Given the description of an element on the screen output the (x, y) to click on. 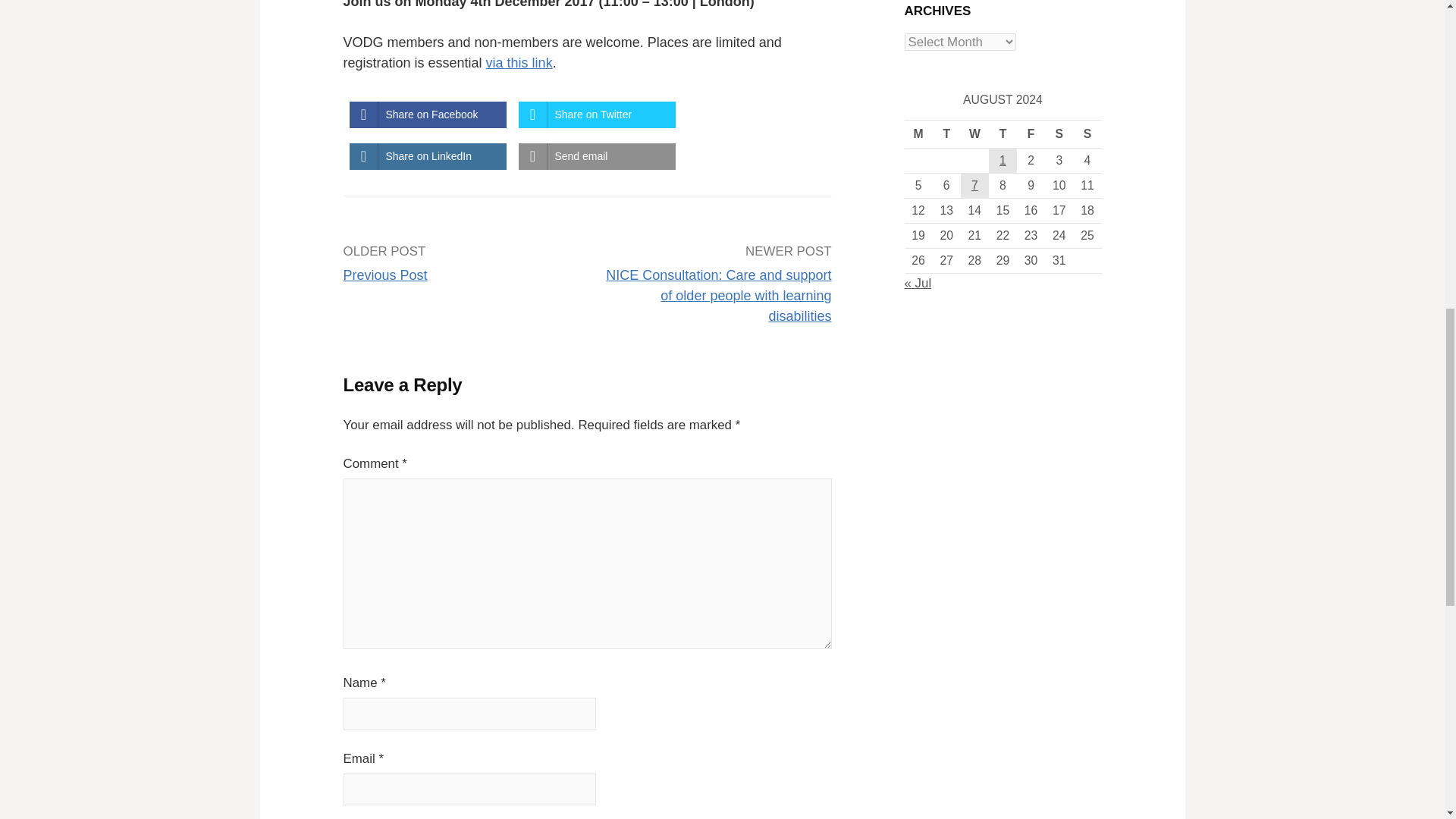
Share on Facebook (427, 114)
Tuesday (946, 133)
Share on Twitter (596, 114)
Share on LinkedIn (427, 156)
Share it on Email (596, 156)
via this link (519, 62)
Monday (917, 133)
